Given the description of an element on the screen output the (x, y) to click on. 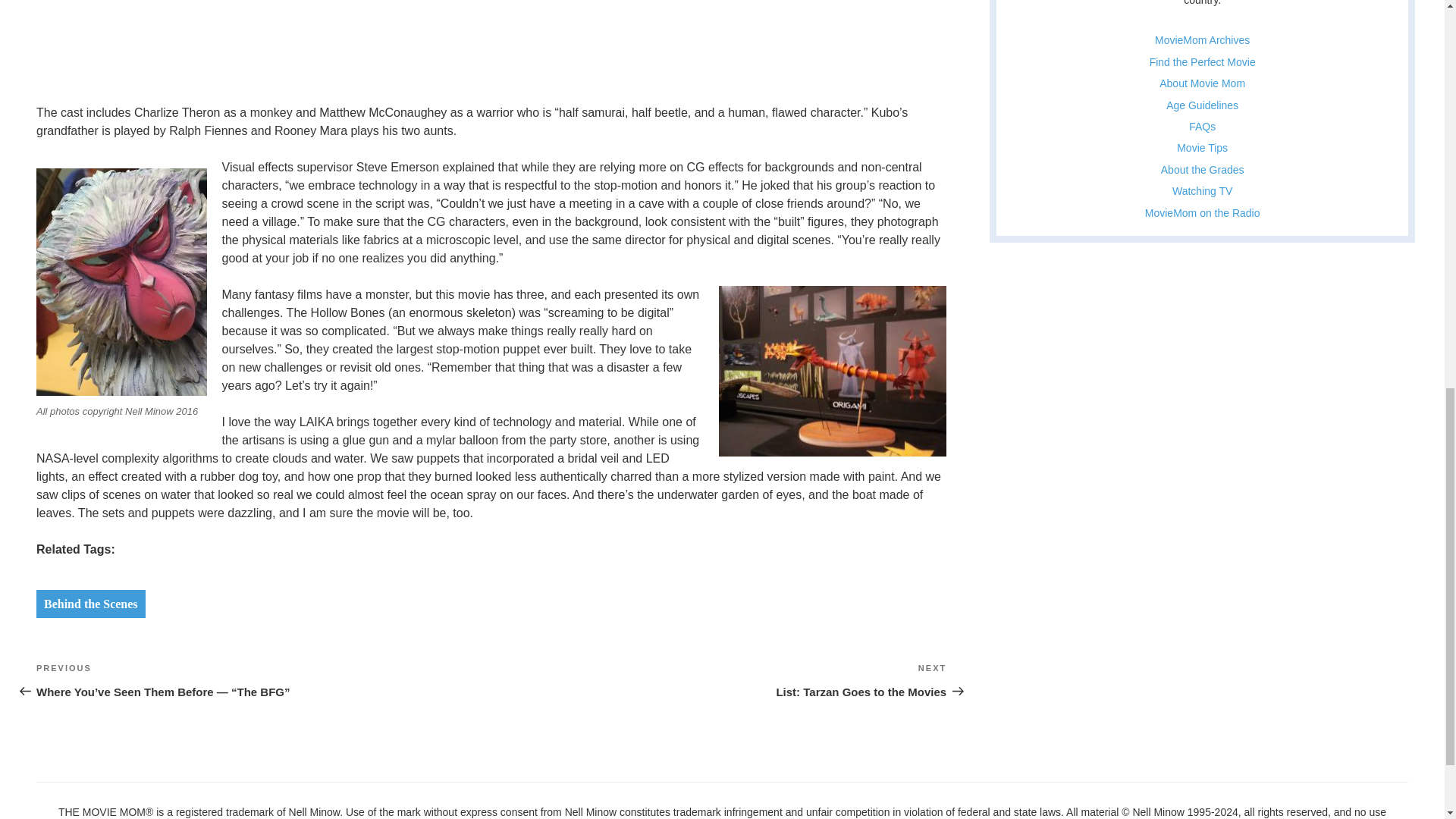
About Movie Mom (1201, 82)
Age Guidelines (1202, 105)
MovieMom on the Radio (1202, 213)
Watching TV (1201, 191)
YouTube player (234, 31)
Behind the Scenes (90, 603)
About the Grades (1202, 169)
FAQs (1202, 126)
Movie Tips (1201, 147)
Find the Perfect Movie (1202, 61)
MovieMom Archives (719, 679)
